Given the description of an element on the screen output the (x, y) to click on. 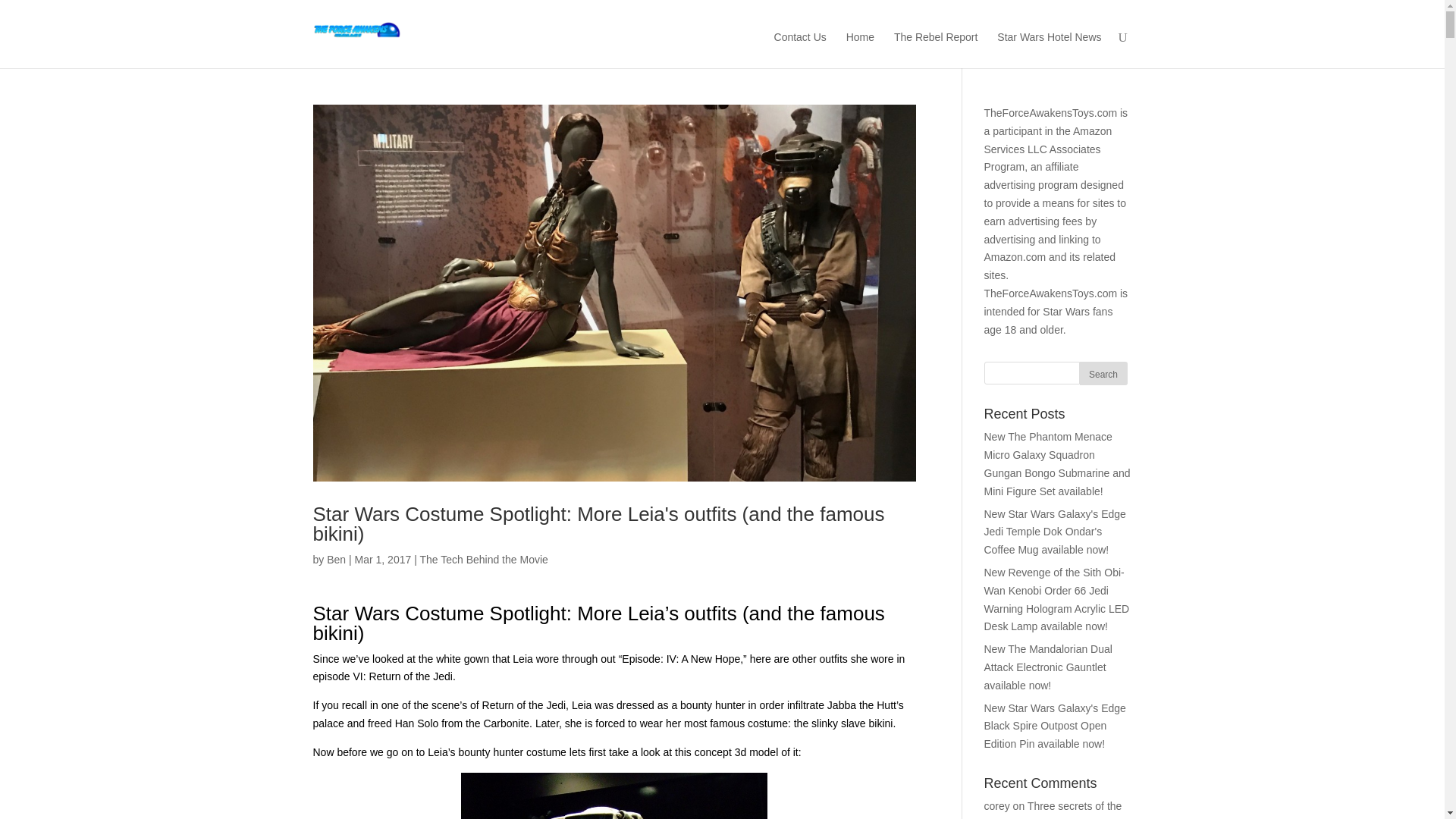
Search (1103, 372)
Star Wars Hotel News (1048, 47)
The Tech Behind the Movie (483, 559)
Ben (336, 559)
Contact Us (800, 47)
The Rebel Report (935, 47)
Posts by Ben (336, 559)
